Given the description of an element on the screen output the (x, y) to click on. 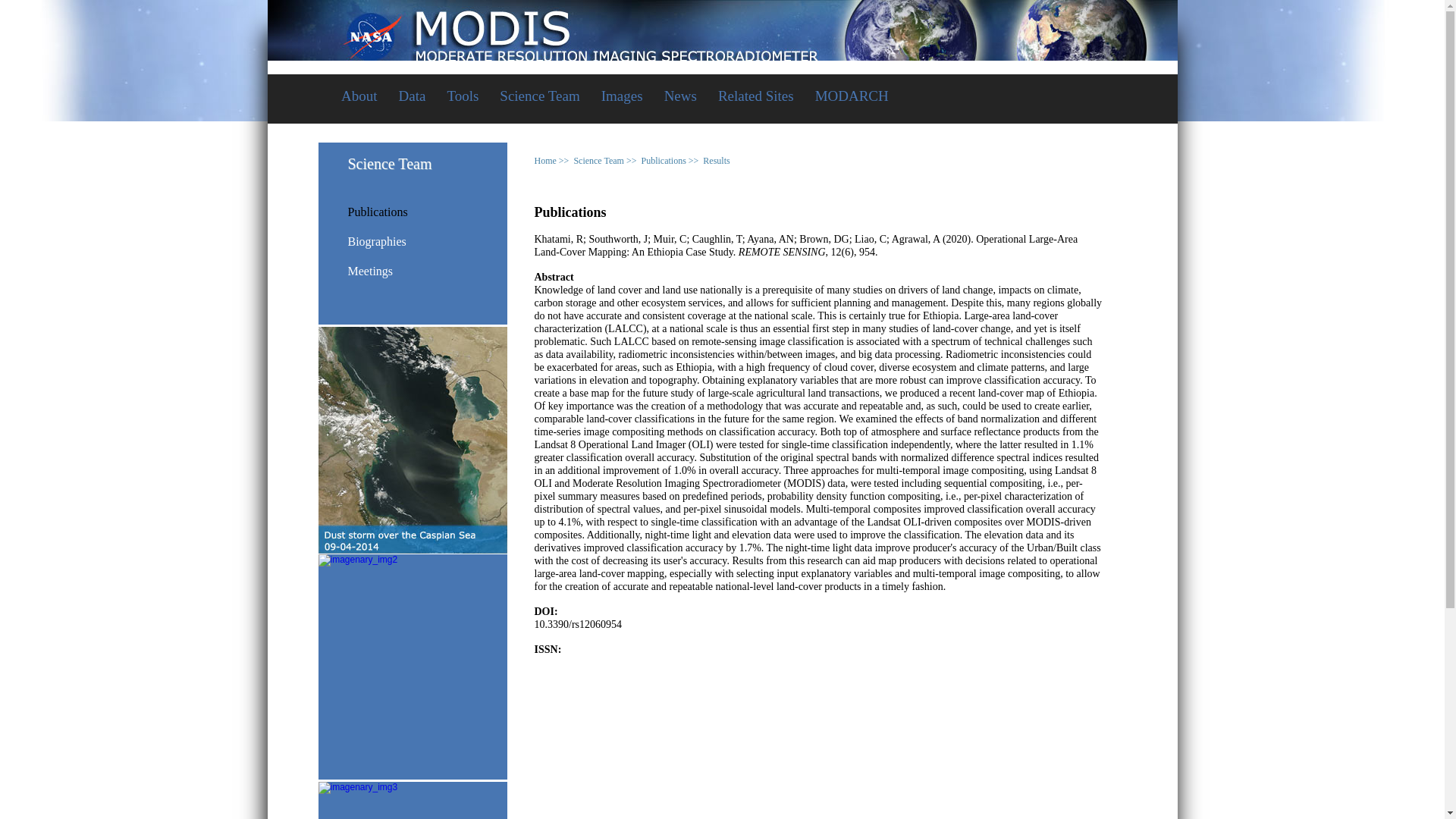
Data (412, 96)
About (358, 96)
Link To NASA website (722, 28)
